Given the description of an element on the screen output the (x, y) to click on. 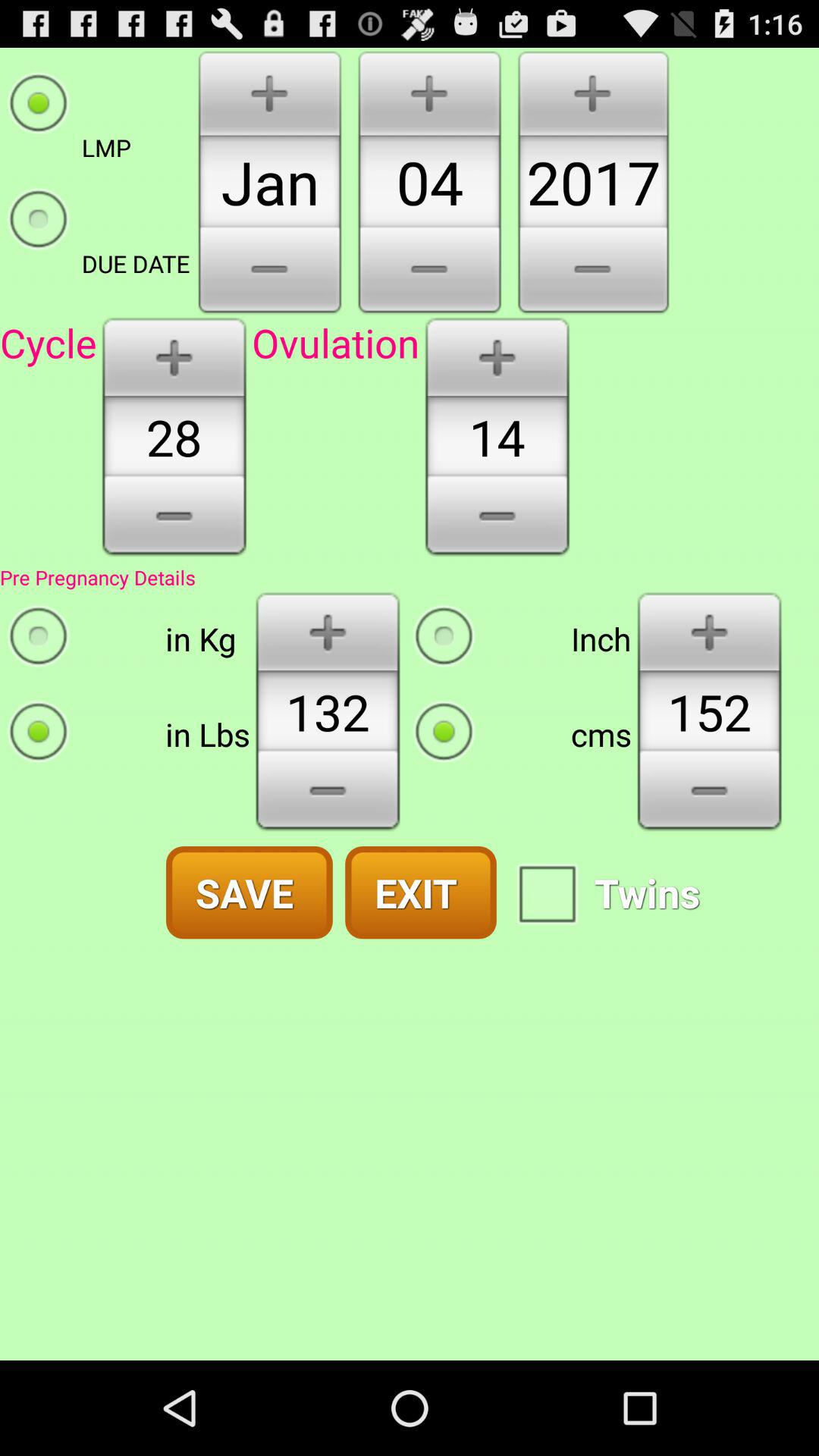
decrease option (709, 795)
